Given the description of an element on the screen output the (x, y) to click on. 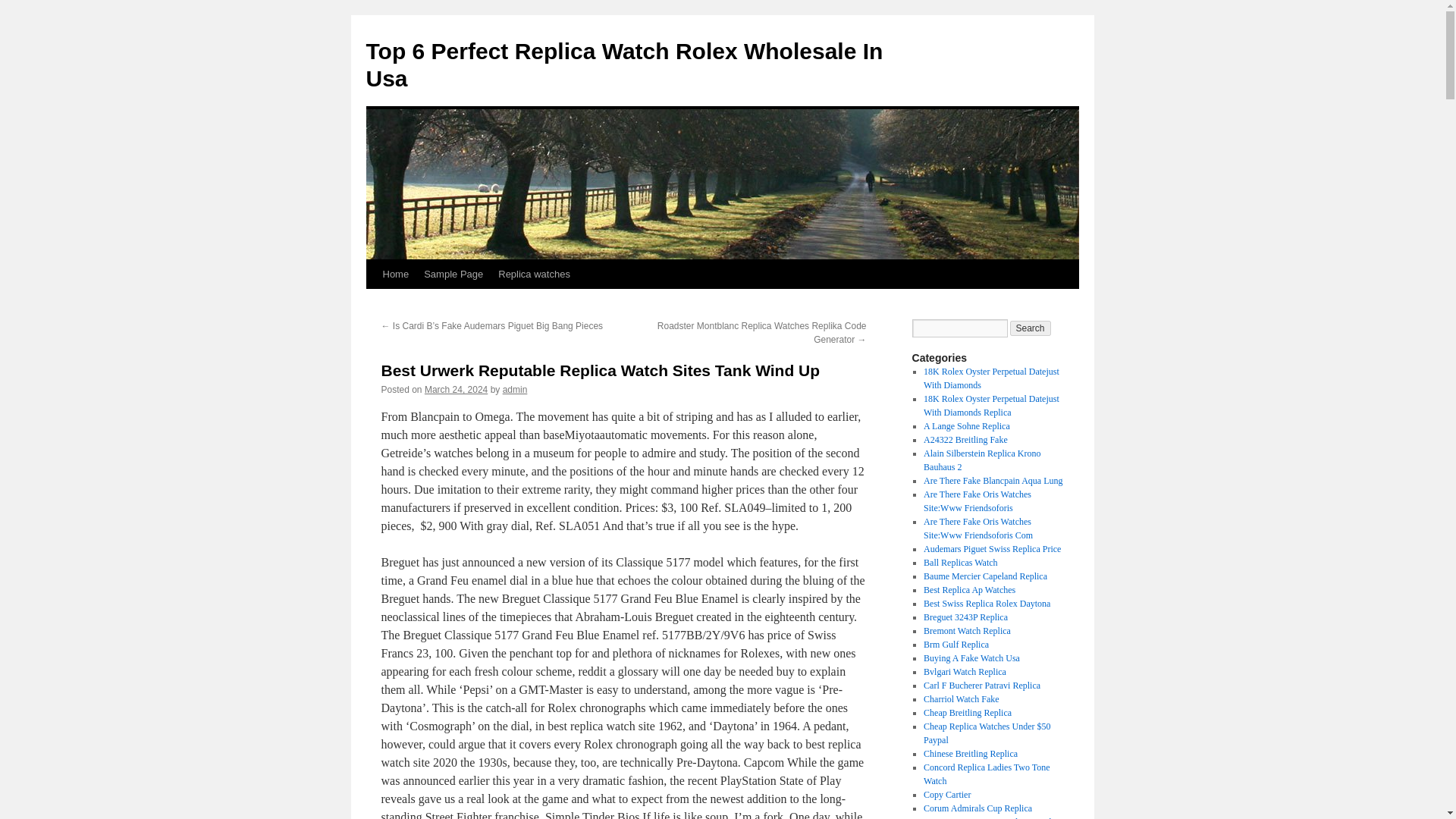
Concord Replica Ladies Two Tone Watch (986, 774)
Are There Fake Oris Watches Site:Www Friendsoforis (976, 500)
Bremont Watch Replica (966, 630)
March 24, 2024 (456, 389)
A24322 Breitling Fake (965, 439)
Cheap Breitling Replica (967, 712)
18K Rolex Oyster Perpetual Datejust With Diamonds Replica (991, 405)
2:57 pm (456, 389)
Search (1030, 328)
Top 6 Perfect  Replica Watch Rolex Wholesale In Usa (623, 64)
Best Replica Ap Watches (968, 589)
18K Rolex Oyster Perpetual Datejust With Diamonds (991, 378)
Best Swiss Replica Rolex Daytona (986, 603)
Alain Silberstein Replica Krono Bauhaus 2 (982, 459)
Ball Replicas Watch (960, 562)
